Given the description of an element on the screen output the (x, y) to click on. 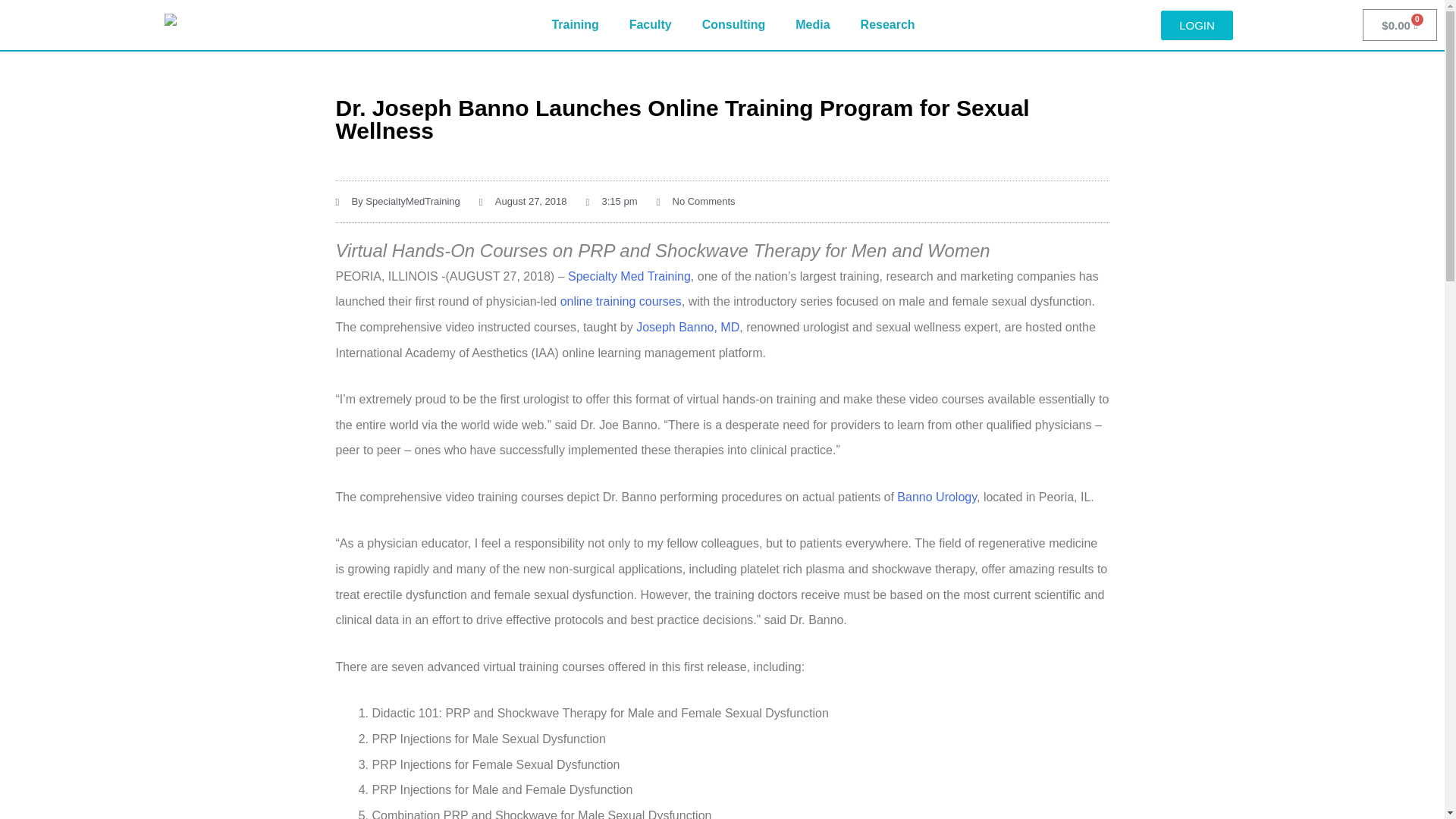
Faculty (650, 24)
Training (573, 24)
Media (812, 24)
LOGIN (1196, 25)
Consulting (733, 24)
Research (887, 24)
